Given the description of an element on the screen output the (x, y) to click on. 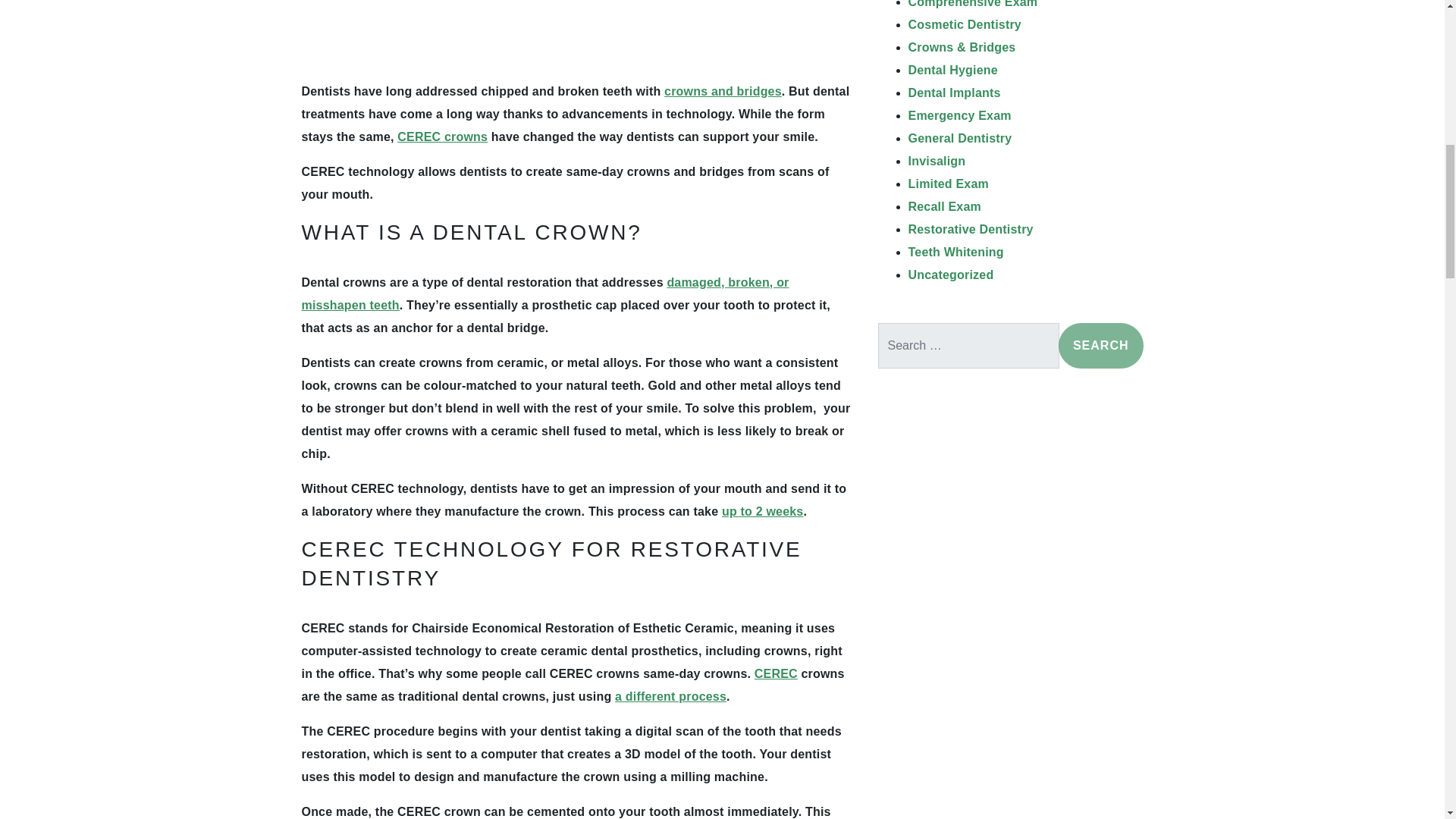
CEREC crowns (442, 136)
a different process (670, 696)
up to 2 weeks (762, 511)
Search (1100, 345)
damaged, broken, or misshapen teeth (545, 294)
crowns and bridges (722, 91)
CEREC (775, 673)
